Given the description of an element on the screen output the (x, y) to click on. 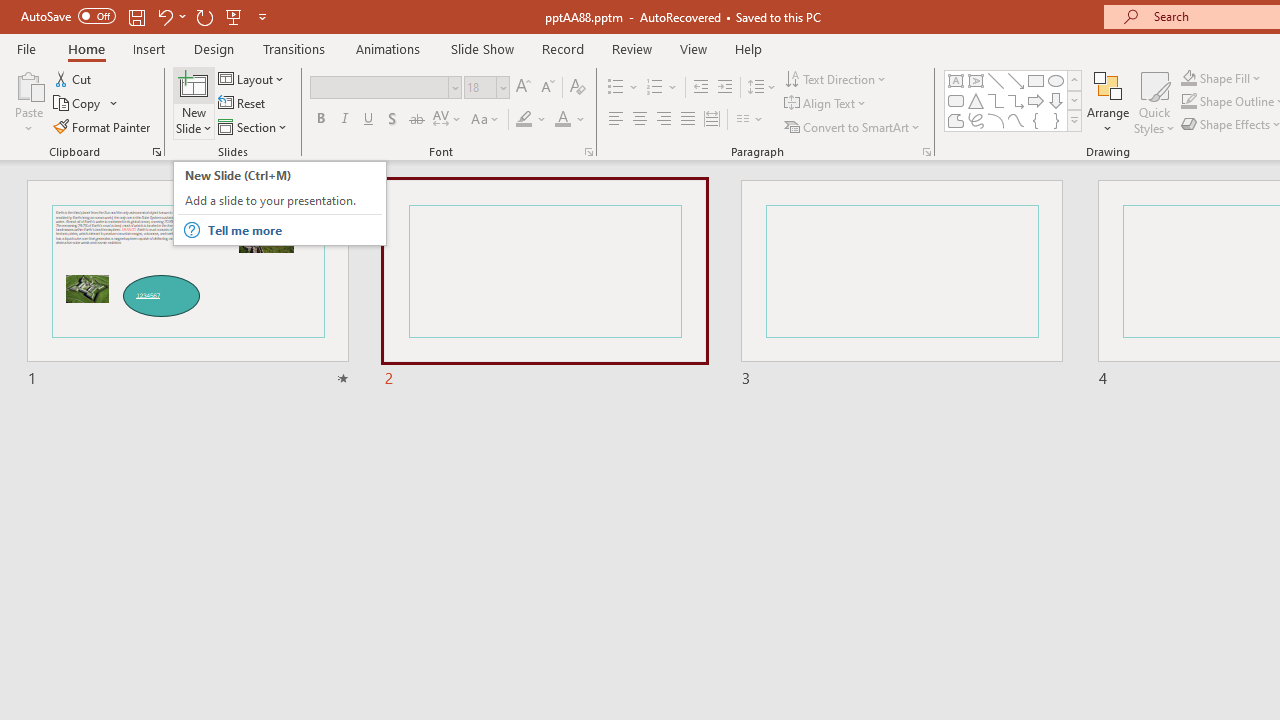
Font Size (486, 87)
Font Color (569, 119)
File Tab (26, 48)
Underline (369, 119)
Row Down (1074, 100)
Increase Indent (725, 87)
Numbering (654, 87)
Slide Show (481, 48)
Undo (170, 15)
Font (385, 87)
Bullets (623, 87)
Arc (995, 120)
Oval (1055, 80)
Transitions (294, 48)
Insert (149, 48)
